Given the description of an element on the screen output the (x, y) to click on. 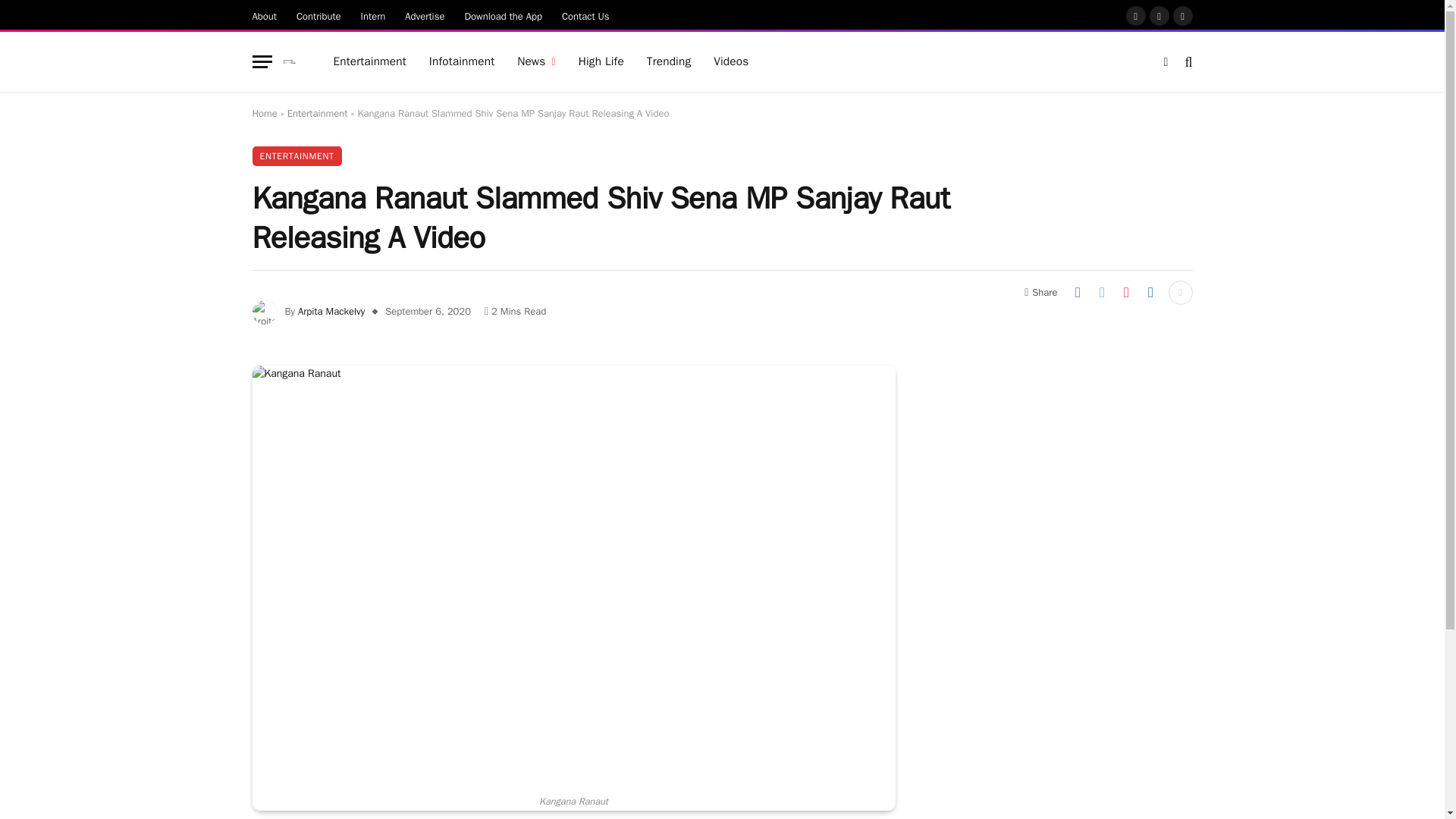
Switch to Dark Design - easier on eyes. (1165, 61)
Download the App (503, 15)
Contact Us (585, 15)
Contribute (318, 15)
About (264, 15)
Intern (373, 15)
Advertise (424, 15)
